Given the description of an element on the screen output the (x, y) to click on. 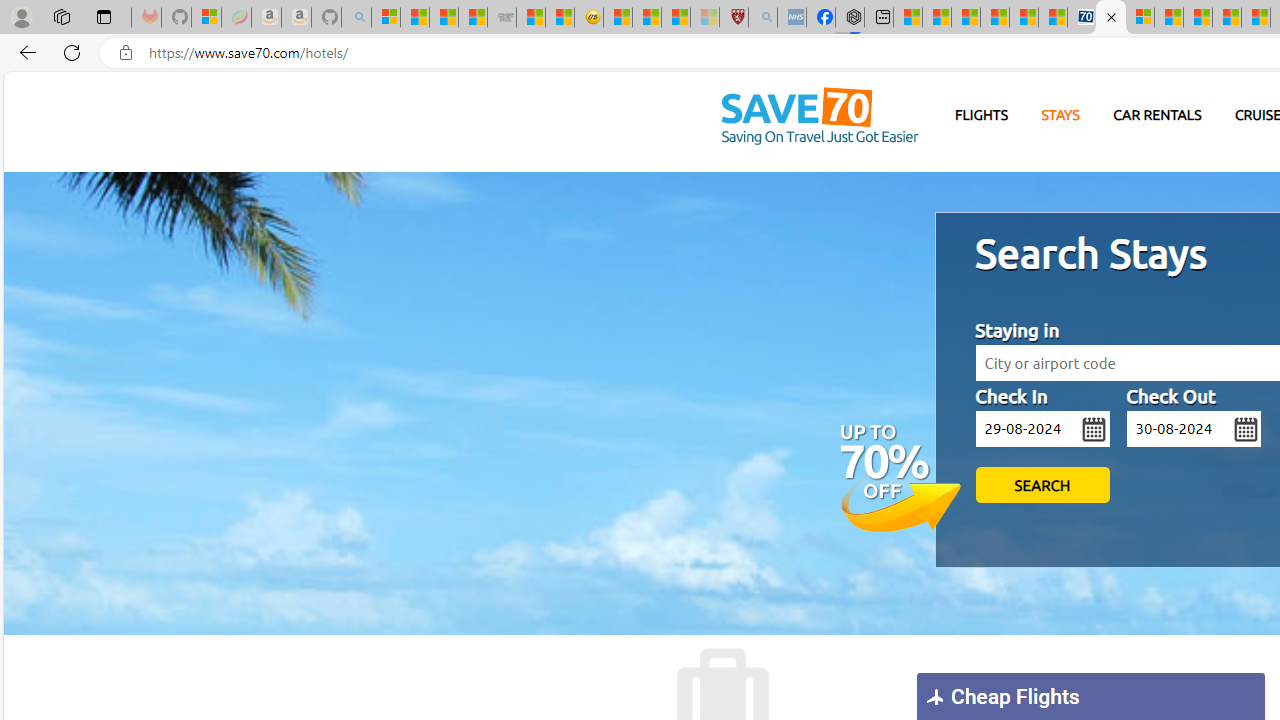
STAYS (1060, 115)
STAYS (1060, 115)
12 Popular Science Lies that Must be Corrected - Sleeping (705, 17)
